Given the description of an element on the screen output the (x, y) to click on. 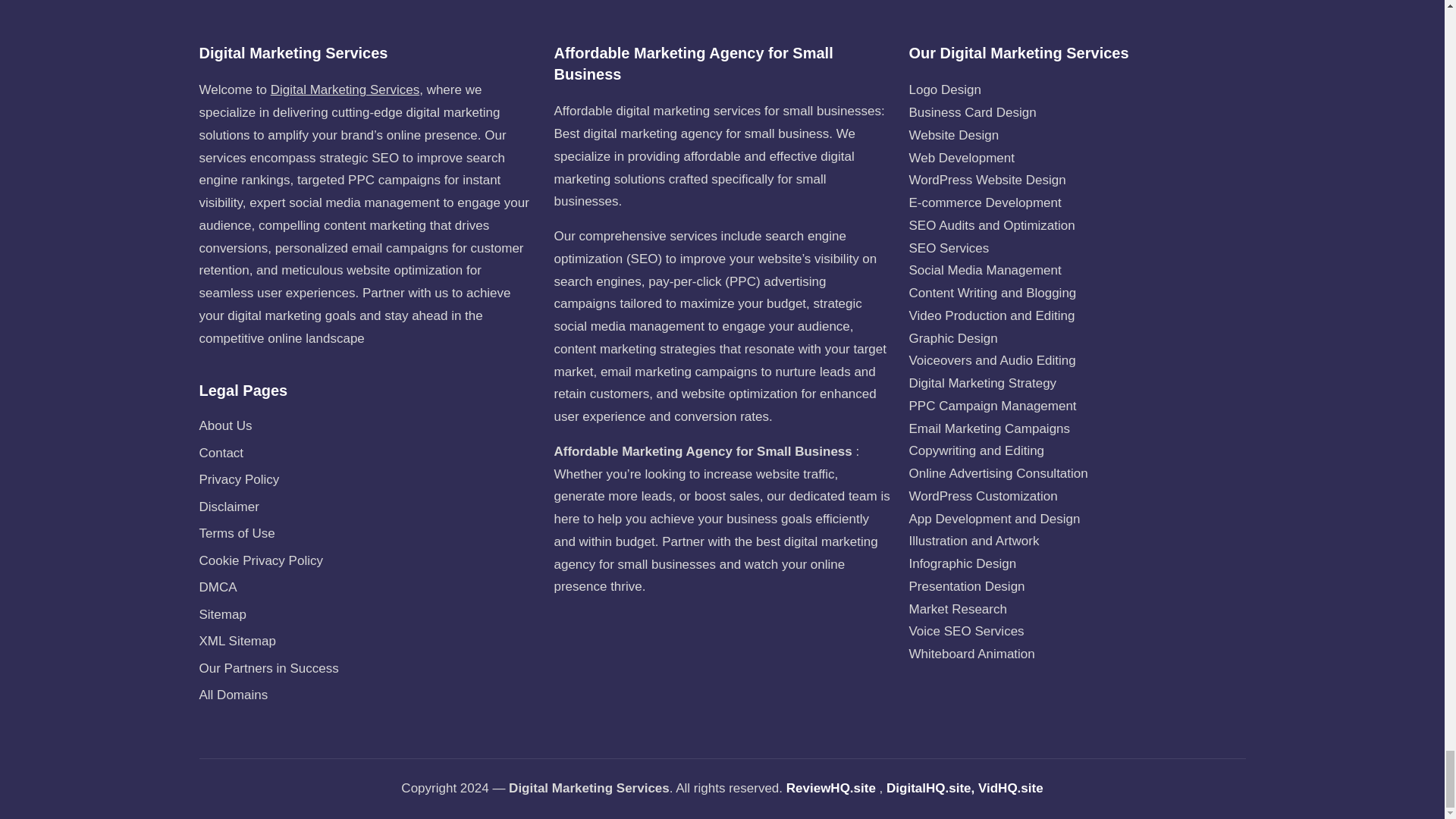
HQ.site (1020, 788)
Sitemap (222, 614)
About Us (224, 425)
Contact (220, 452)
DigitalHQ.site, Vid (941, 788)
ReviewHQ.site (831, 788)
Disclaimer (228, 506)
DMCA (216, 586)
Terms of Use (236, 533)
Privacy Policy (238, 479)
